Given the description of an element on the screen output the (x, y) to click on. 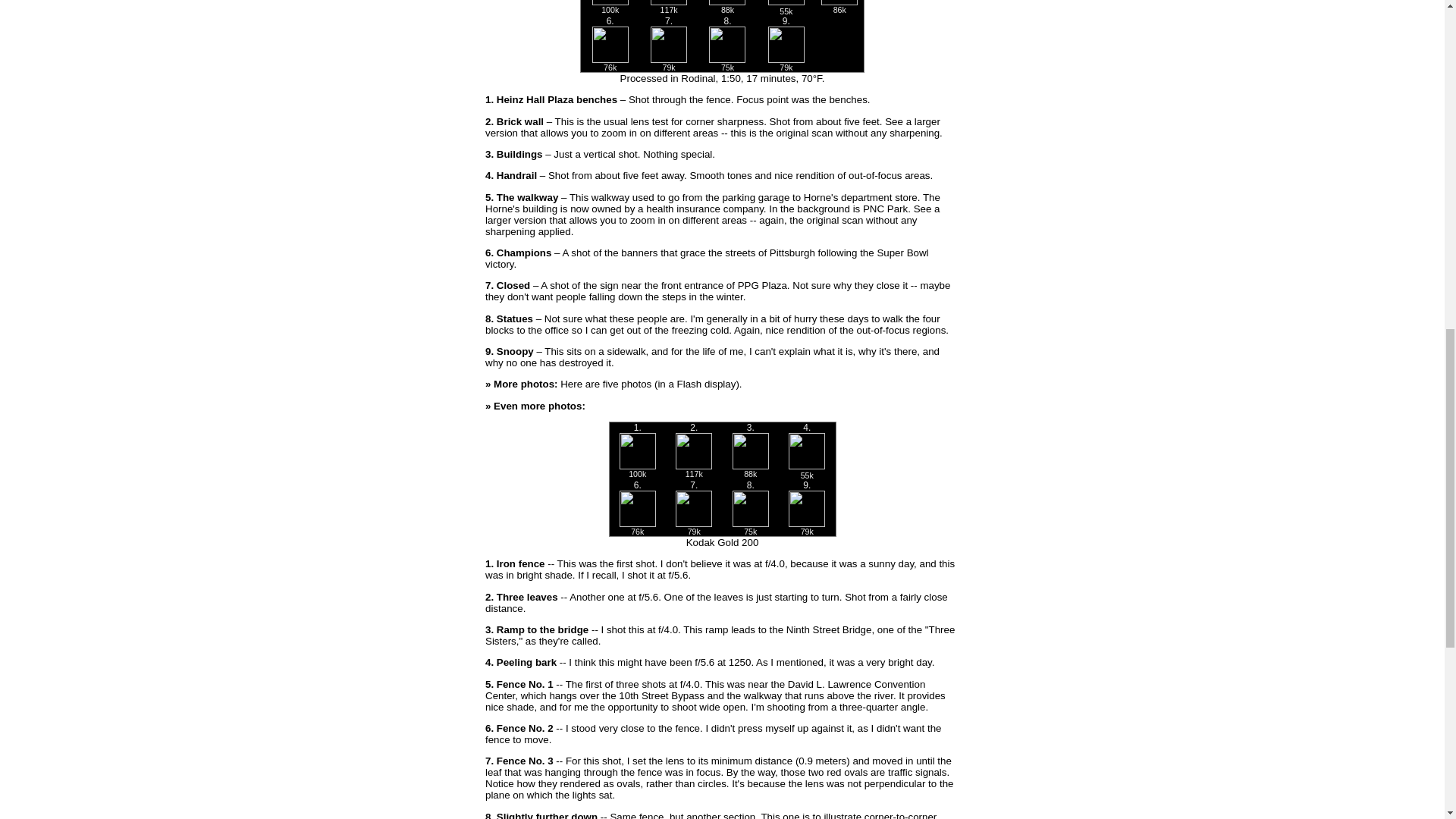
See a larger version (711, 214)
See a larger version (712, 127)
five photos (626, 383)
